Given the description of an element on the screen output the (x, y) to click on. 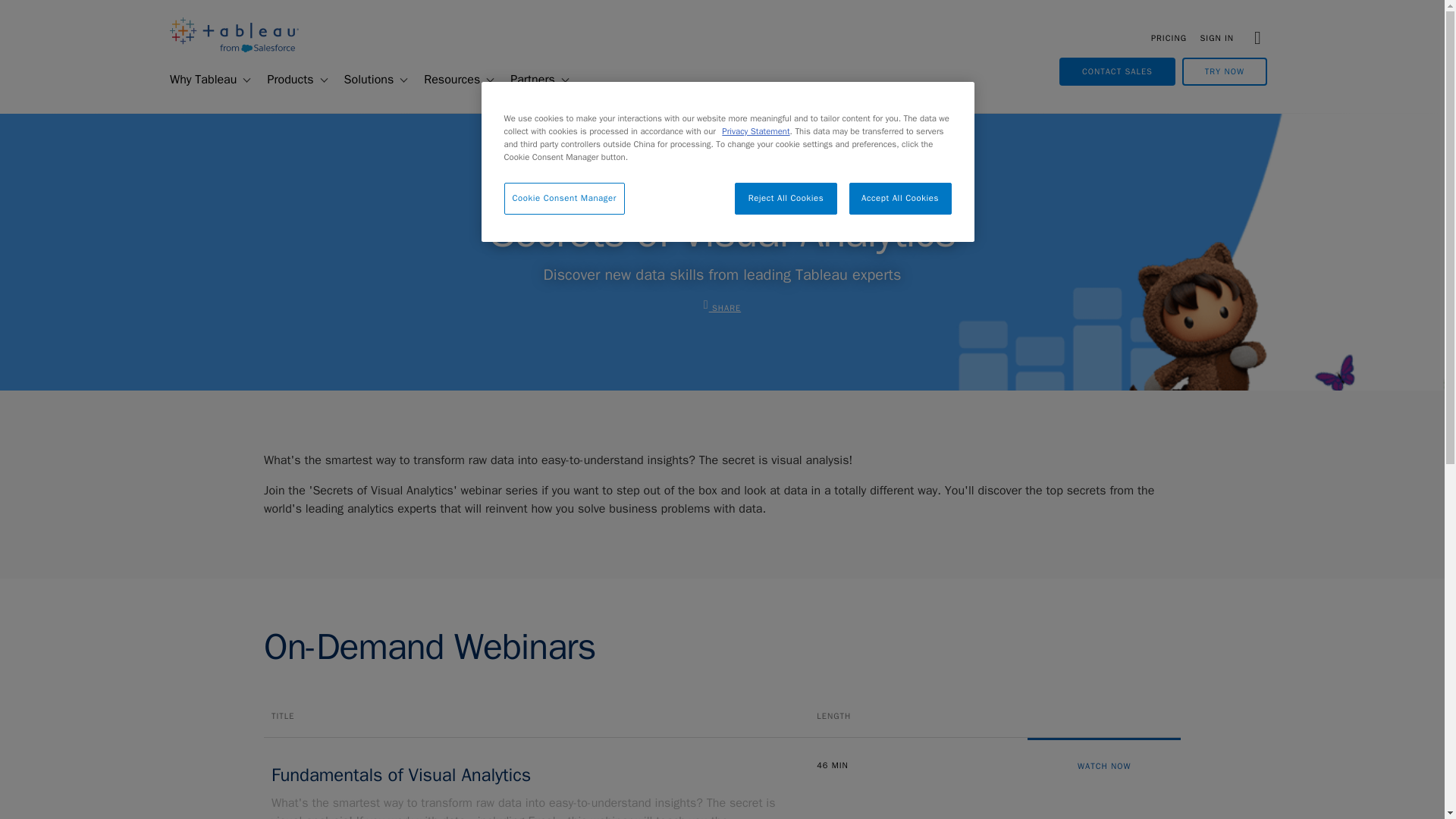
Products (283, 79)
Solutions (362, 79)
Why Tableau (196, 79)
Return to the Tableau Software home page (234, 48)
